Given the description of an element on the screen output the (x, y) to click on. 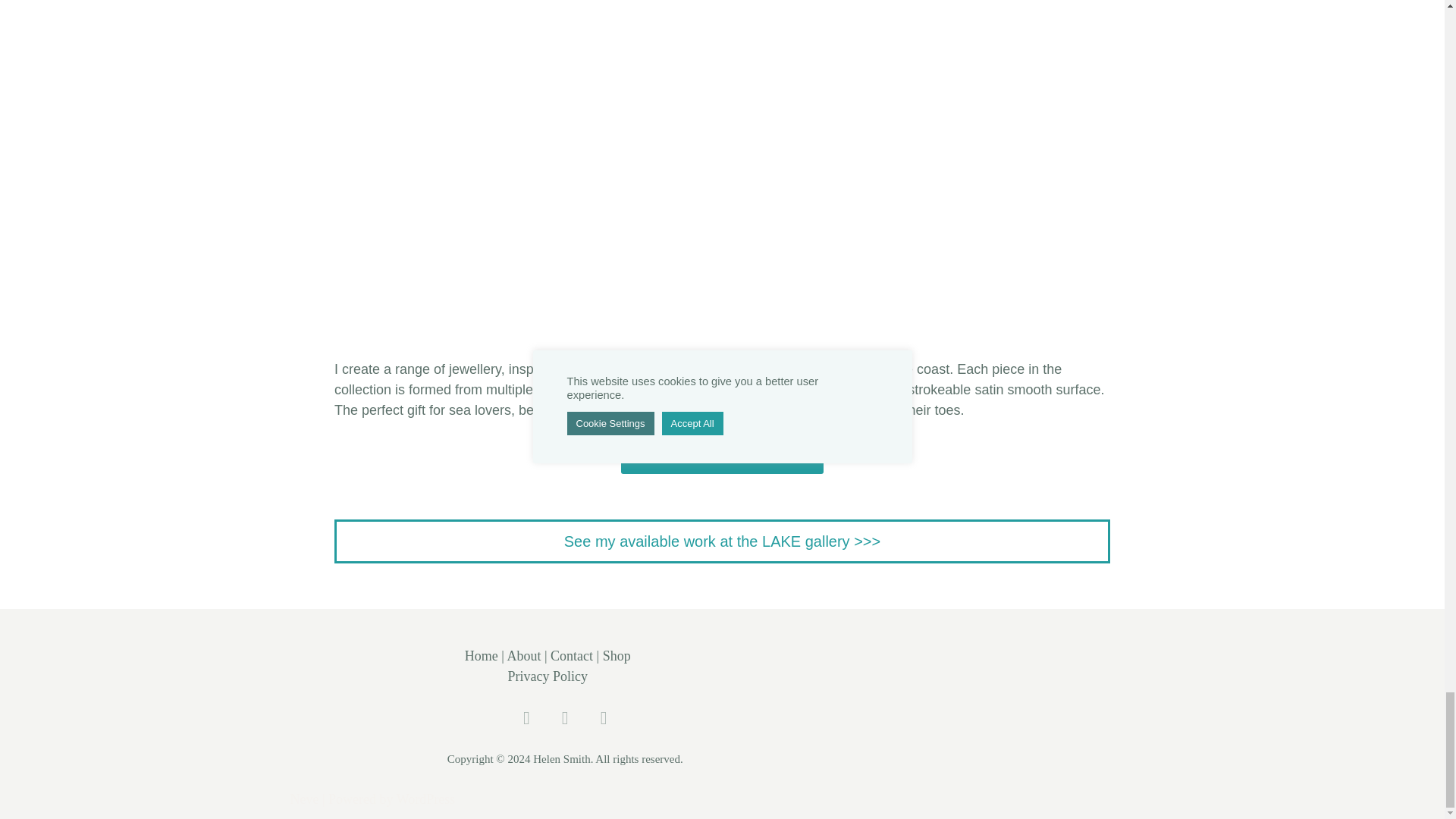
WordPress (425, 798)
Home (480, 655)
Neve (303, 798)
Pinterest (604, 718)
Facebook (565, 718)
Instagram (526, 718)
Contact (571, 655)
Privacy Policy (547, 676)
Shop (616, 655)
About (523, 655)
Shop the Jewellery Collection (721, 453)
